Given the description of an element on the screen output the (x, y) to click on. 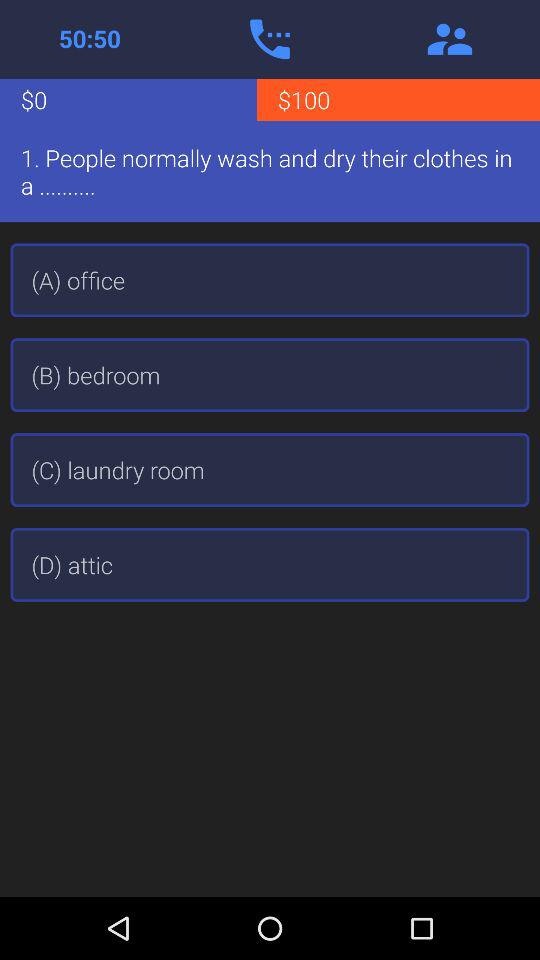
use phone lifeline (270, 39)
